Given the description of an element on the screen output the (x, y) to click on. 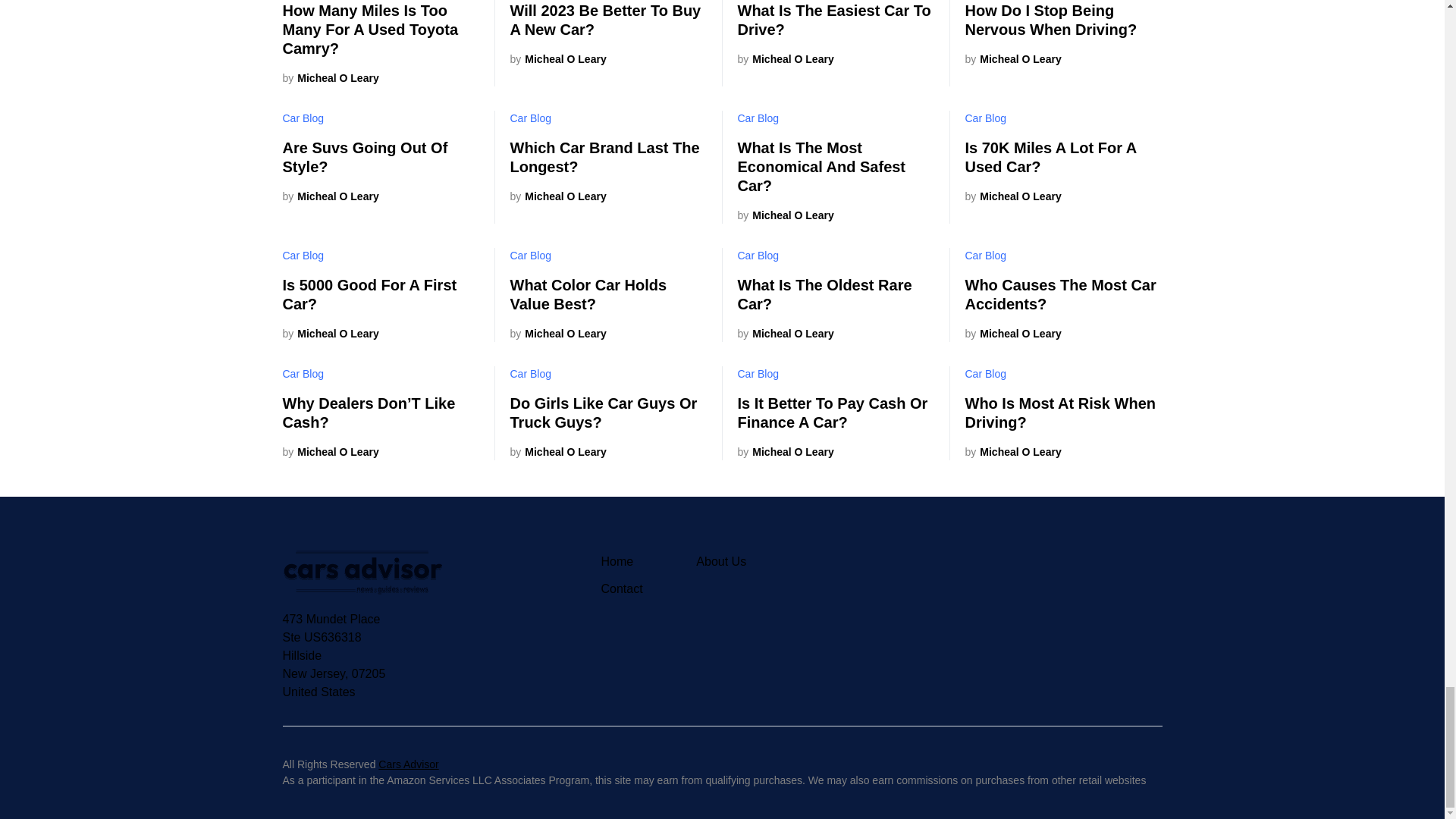
View all posts by Micheal O Leary (557, 333)
View all posts by Micheal O Leary (330, 333)
View all posts by Micheal O Leary (330, 78)
View all posts by Micheal O Leary (330, 452)
View all posts by Micheal O Leary (330, 196)
View all posts by Micheal O Leary (1012, 452)
View all posts by Micheal O Leary (557, 196)
View all posts by Micheal O Leary (784, 452)
View all posts by Micheal O Leary (557, 59)
View all posts by Micheal O Leary (1012, 59)
View all posts by Micheal O Leary (784, 215)
View all posts by Micheal O Leary (1012, 196)
View all posts by Micheal O Leary (784, 333)
View all posts by Micheal O Leary (784, 59)
View all posts by Micheal O Leary (1012, 333)
